Given the description of an element on the screen output the (x, y) to click on. 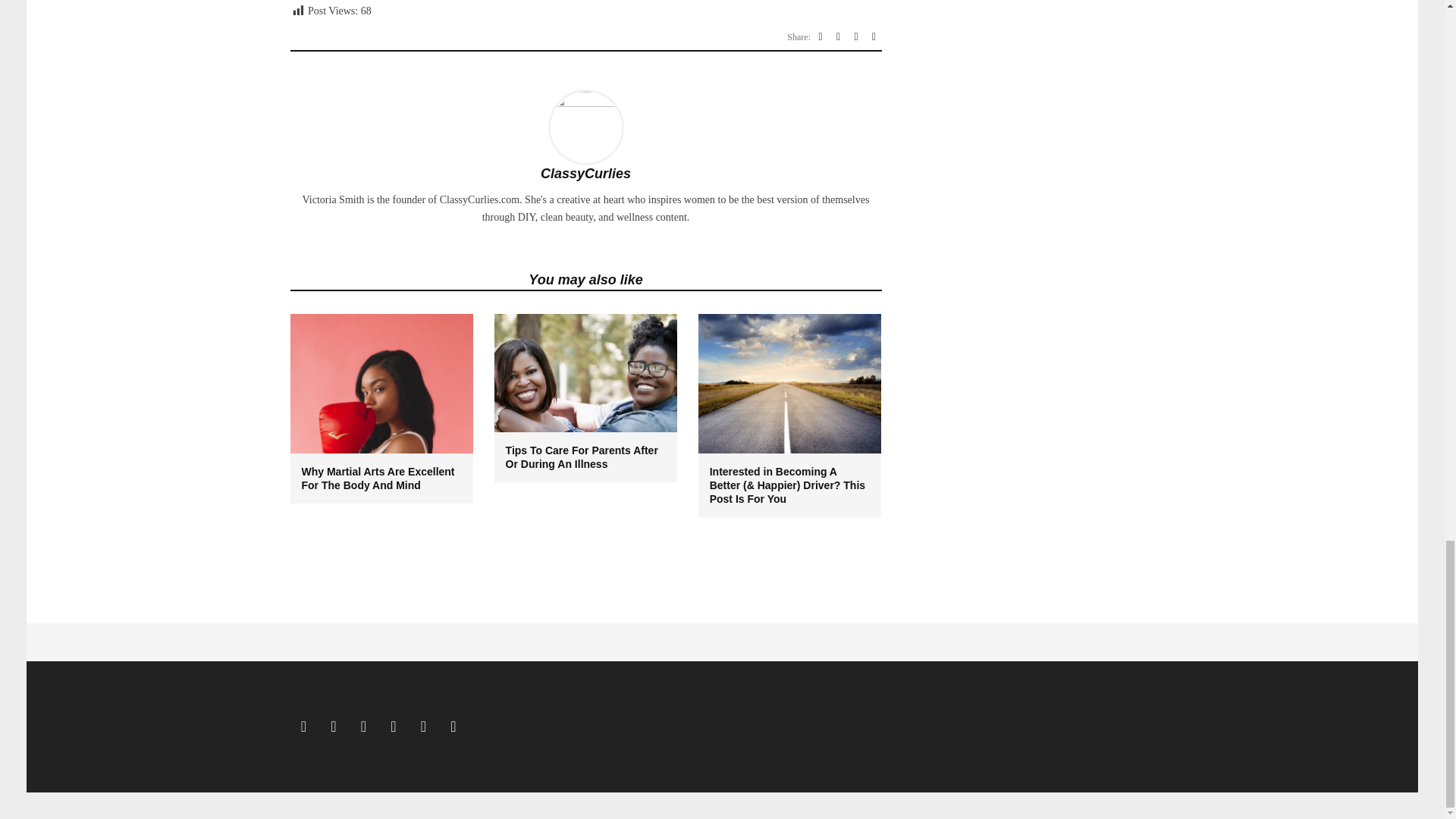
ClassyCurlies (585, 173)
Tips To Care For Parents After Or During An Illness (585, 456)
Posts by ClassyCurlies (585, 173)
Why Martial Arts Are Excellent For The Body And Mind (382, 478)
